Given the description of an element on the screen output the (x, y) to click on. 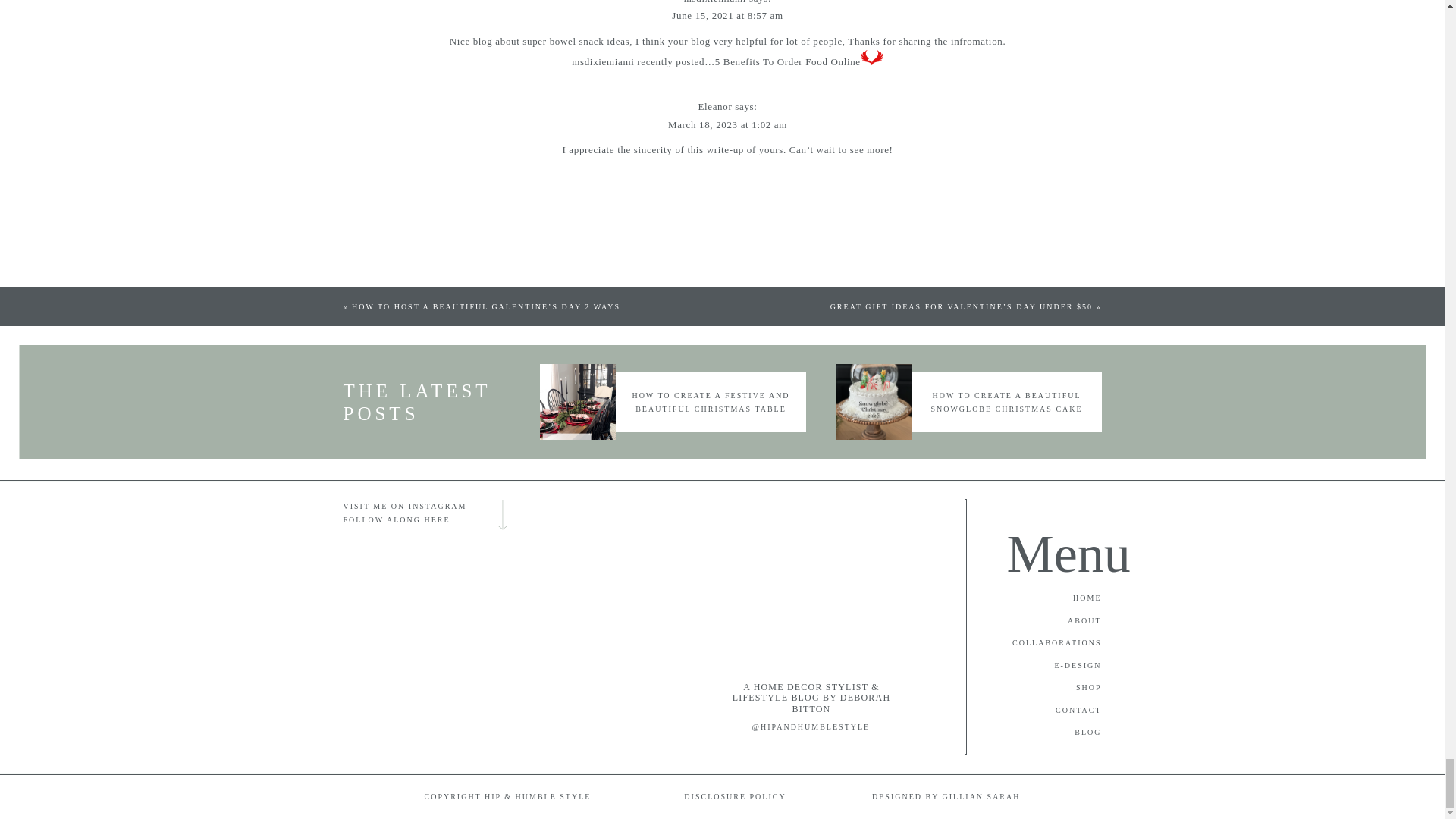
HOW TO CREATE A BEAUTIFUL SNOWGLOBE CHRISTMAS CAKE (1005, 402)
HOME (1042, 598)
HOW TO CREATE A FESTIVE AND BEAUTIFUL CHRISTMAS TABLE (710, 402)
COLLABORATIONS (1042, 643)
5 Benefits To Order Food Online (787, 61)
DESIGNED BY GILLIAN SARAH (919, 795)
March 18, 2023 at 1:02 am (727, 124)
BLOG (1042, 732)
Eleanor (714, 106)
June 15, 2021 at 8:57 am (727, 15)
ABOUT (1042, 621)
CONTACT (1042, 710)
SHOP (1042, 687)
msdixiemiami (714, 2)
E-DESIGN (1042, 666)
